Given the description of an element on the screen output the (x, y) to click on. 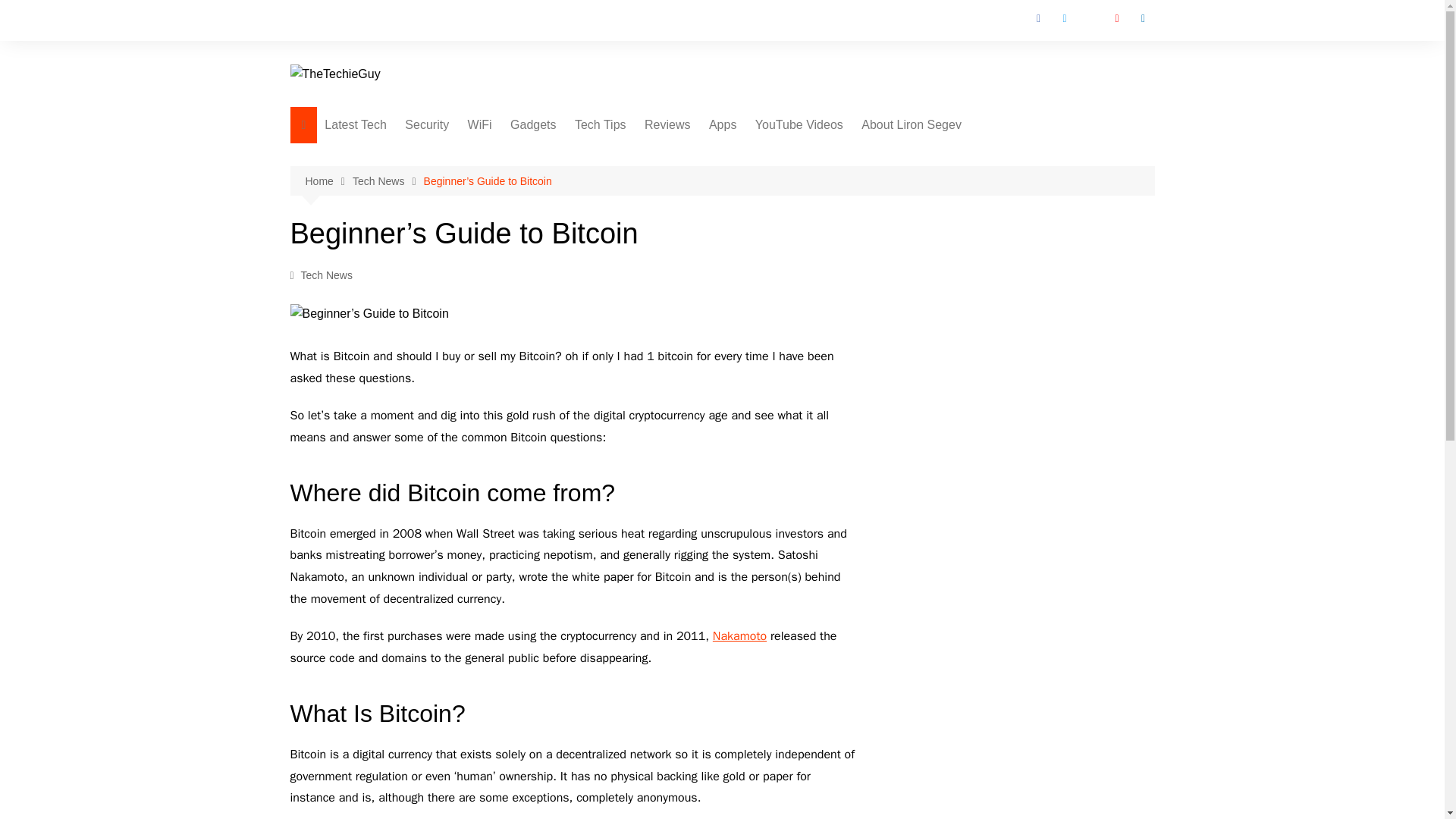
Disclosure Policy (936, 231)
Youtube (1116, 18)
Tech News (326, 274)
Facebook (1038, 18)
WiFi (479, 125)
Tech News (387, 181)
Phones (650, 155)
Nakamoto (740, 635)
Tech Tips (600, 125)
How to contact TheTechieGuy (936, 161)
Gadgets (532, 125)
About Liron Segev (911, 125)
Linkedin (1142, 18)
Security (427, 125)
Home (328, 181)
